Given the description of an element on the screen output the (x, y) to click on. 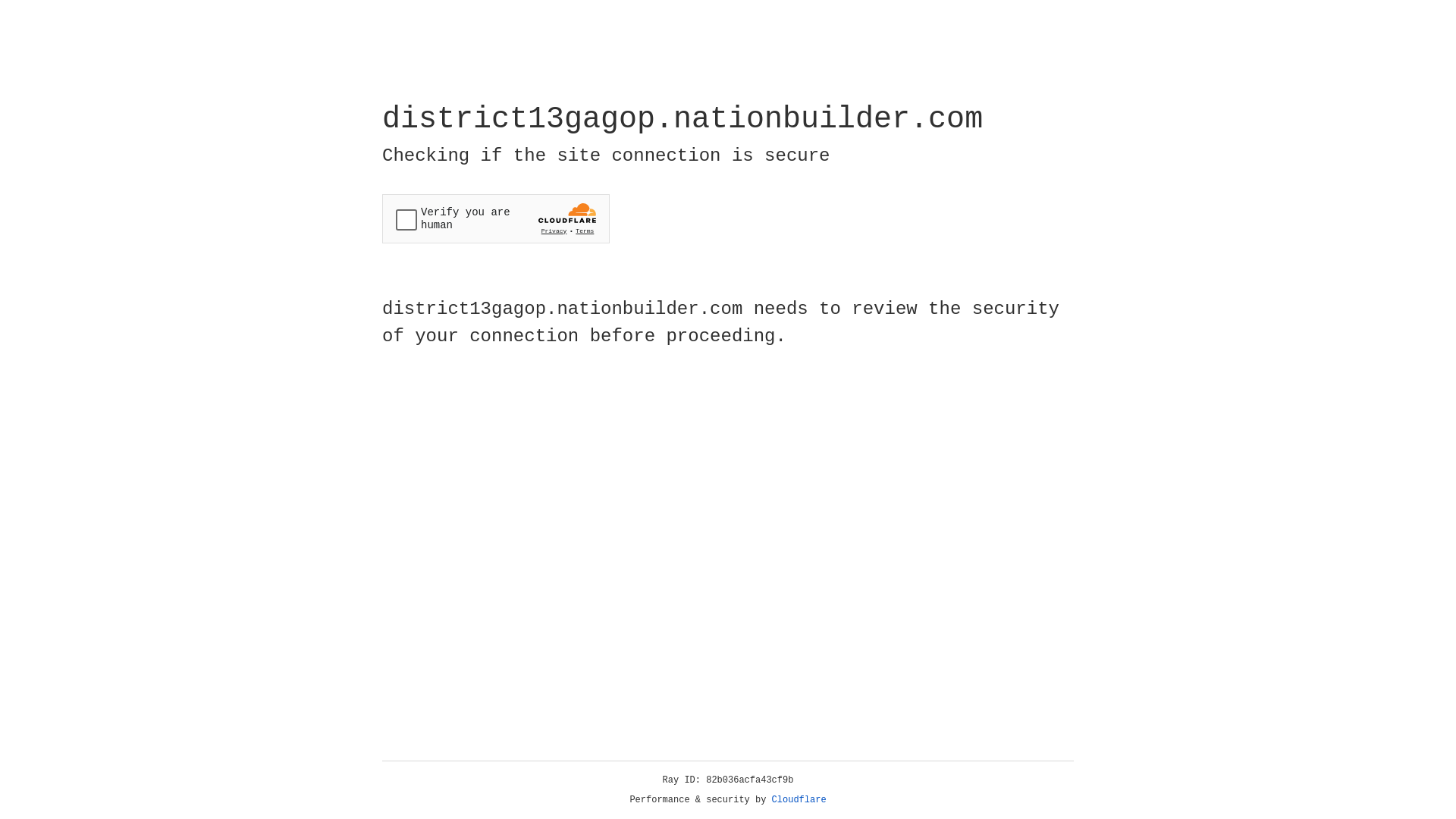
Widget containing a Cloudflare security challenge Element type: hover (495, 218)
Cloudflare Element type: text (798, 799)
